Given the description of an element on the screen output the (x, y) to click on. 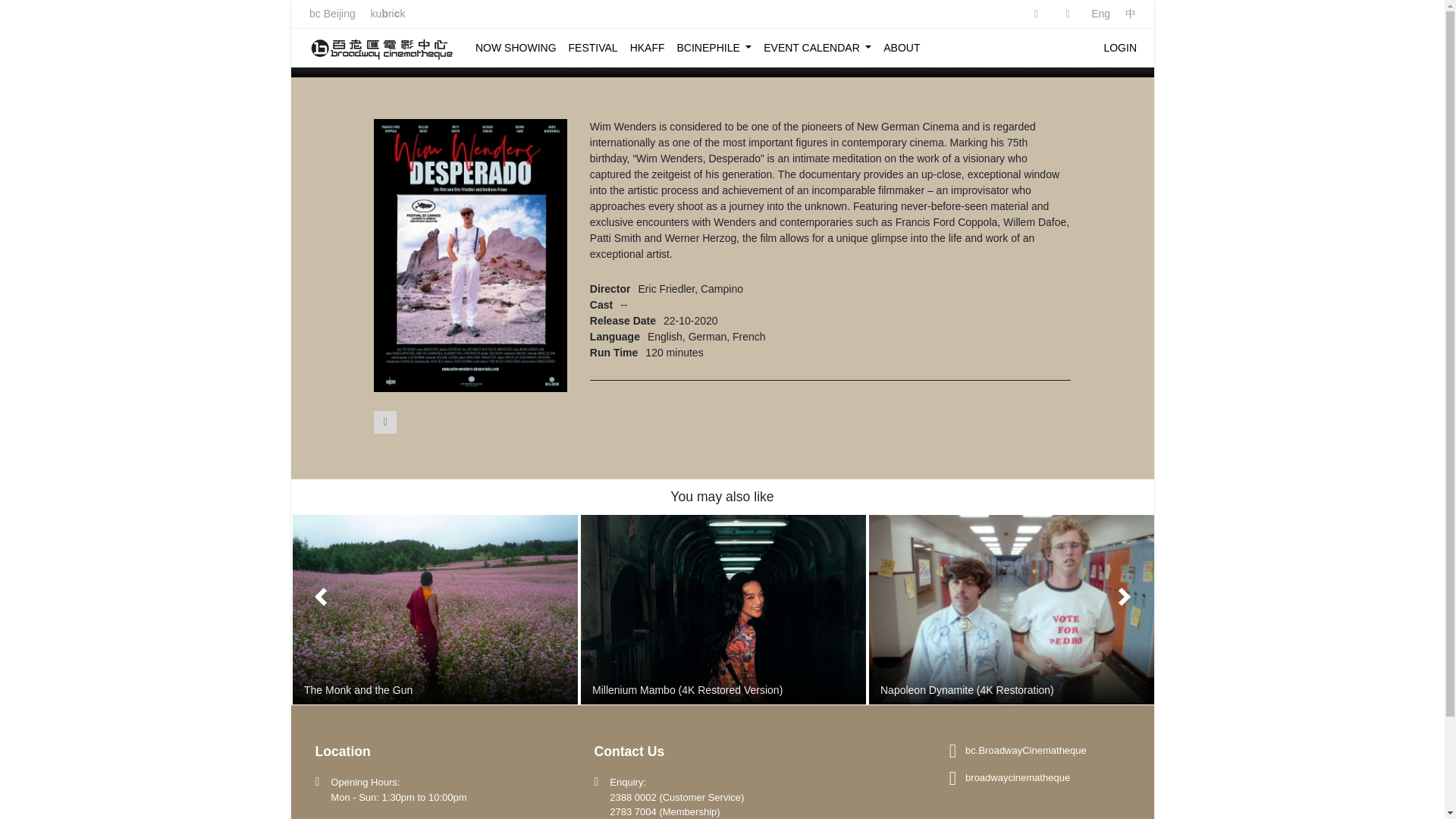
LOGIN (1120, 47)
NOW SHOWING (515, 47)
bc Beijing (331, 13)
EVENT CALENDAR (816, 47)
NOW SHOWING (515, 47)
ABOUT (901, 47)
Eng (1099, 13)
kubrick (386, 13)
HKAFF (645, 47)
HKAFF (645, 47)
